Given the description of an element on the screen output the (x, y) to click on. 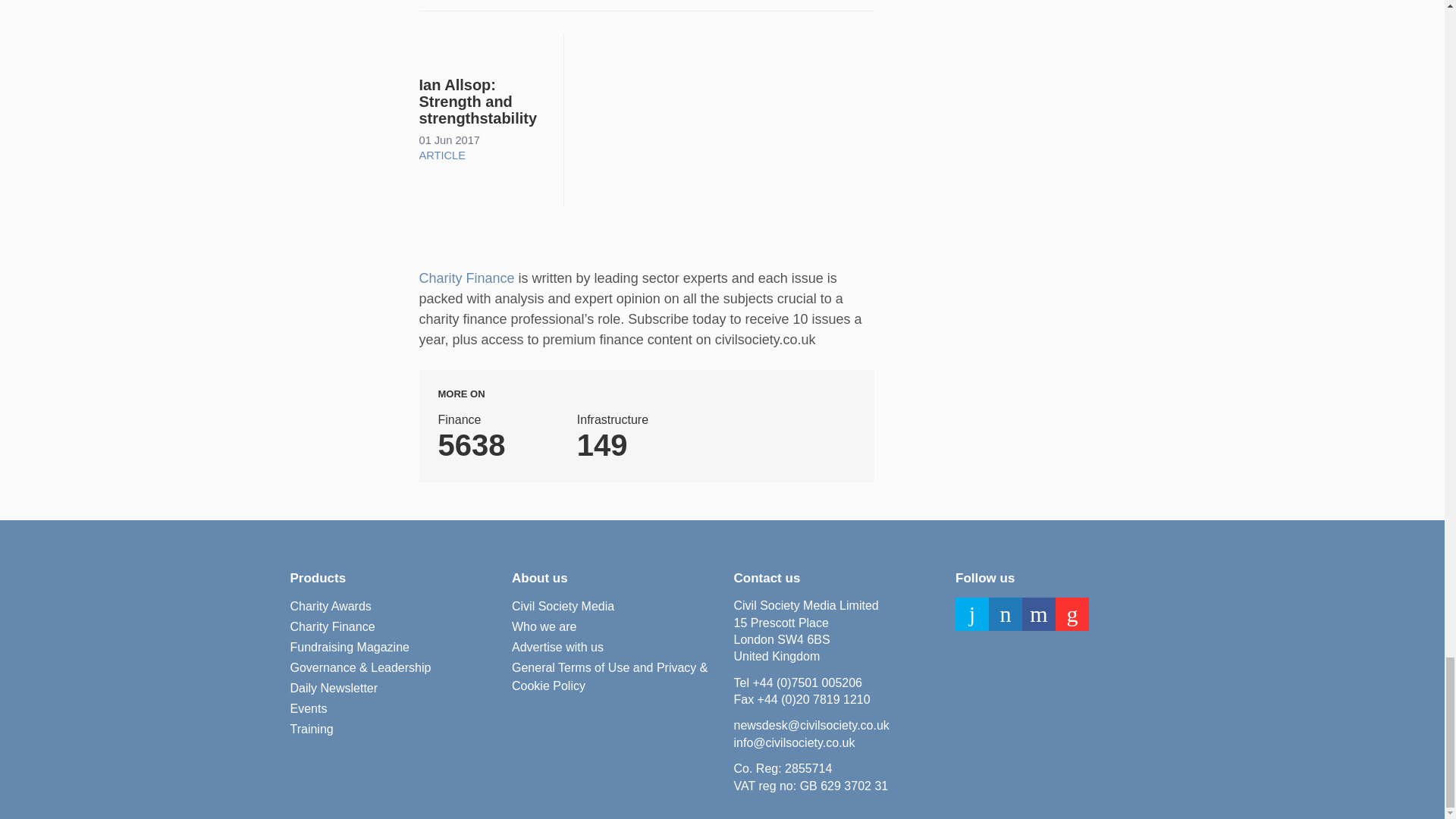
Training (311, 729)
Charity Finance (331, 627)
Who we are (544, 627)
Advertise with us (558, 647)
Daily Newsletter (333, 688)
Civil Society Media (563, 606)
Events (307, 709)
Fundraising Magazine (349, 647)
Charity Awards (330, 606)
